Given the description of an element on the screen output the (x, y) to click on. 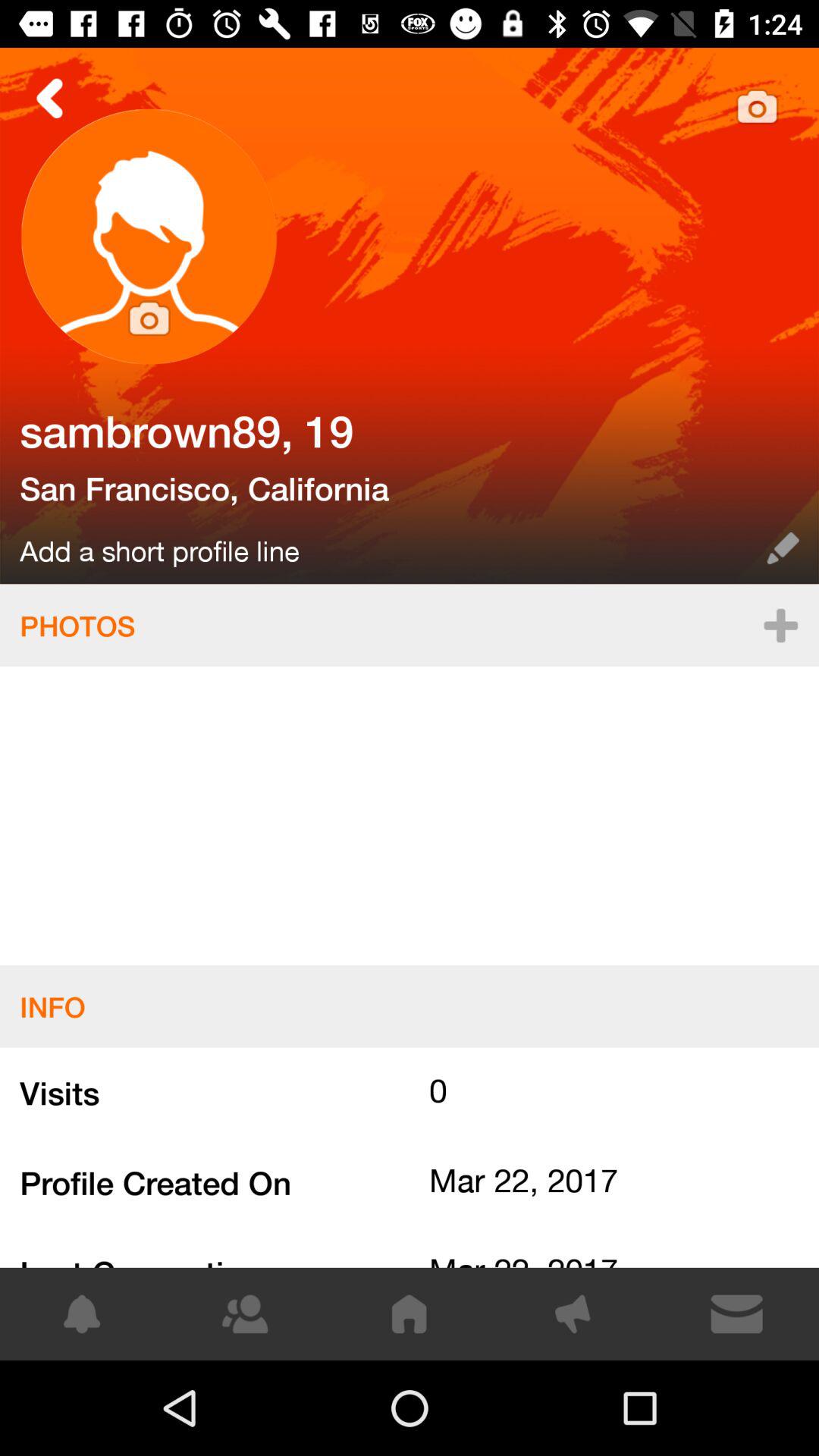
launch item next to add a short item (783, 548)
